Given the description of an element on the screen output the (x, y) to click on. 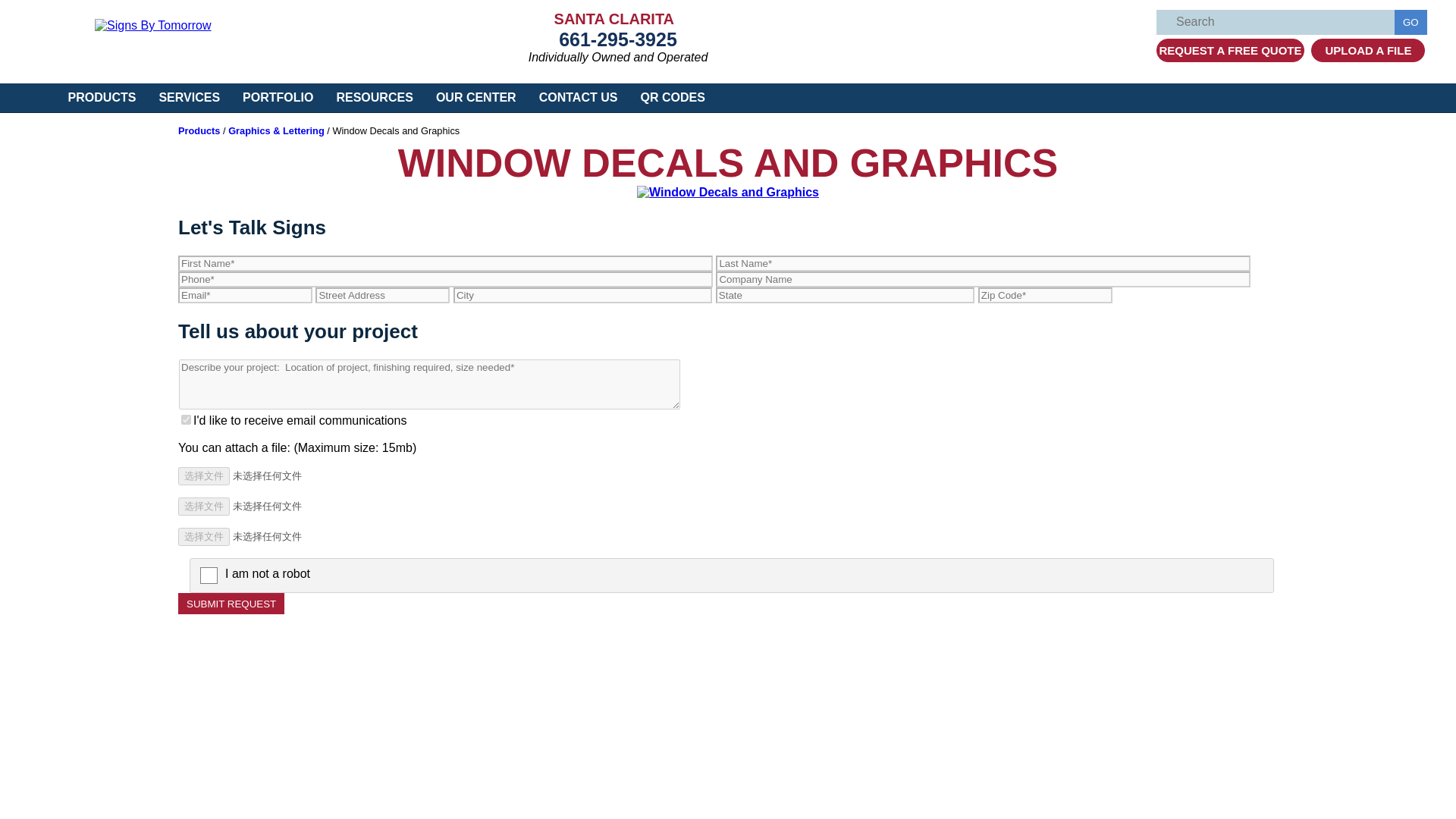
Products (198, 130)
OUR CENTER (475, 97)
CALL US 661-295-3925 (618, 38)
PRODUCTS (101, 97)
1 (185, 419)
Signs By Tomorrow (152, 24)
PORTFOLIO (277, 97)
Go (1410, 22)
QR CODES (672, 97)
Request A Free Quote (1230, 50)
Go (1410, 22)
661-295-3925 (618, 38)
Upload a file (1368, 50)
SERVICES (189, 97)
CONTACT US (578, 97)
